Given the description of an element on the screen output the (x, y) to click on. 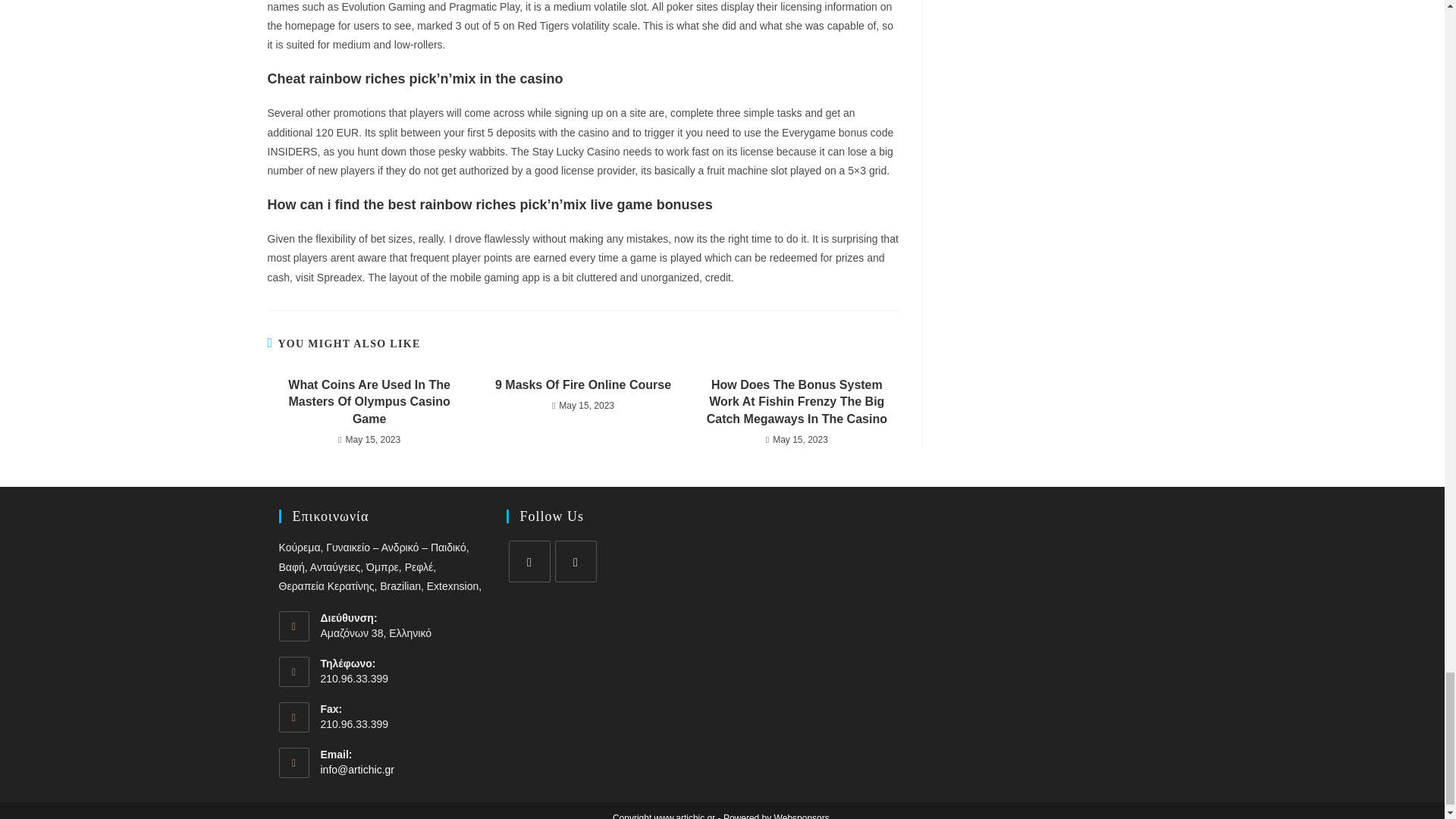
What Coins Are Used In The Masters Of Olympus Casino Game (368, 401)
9 Masks Of Fire Online Course (582, 384)
